Given the description of an element on the screen output the (x, y) to click on. 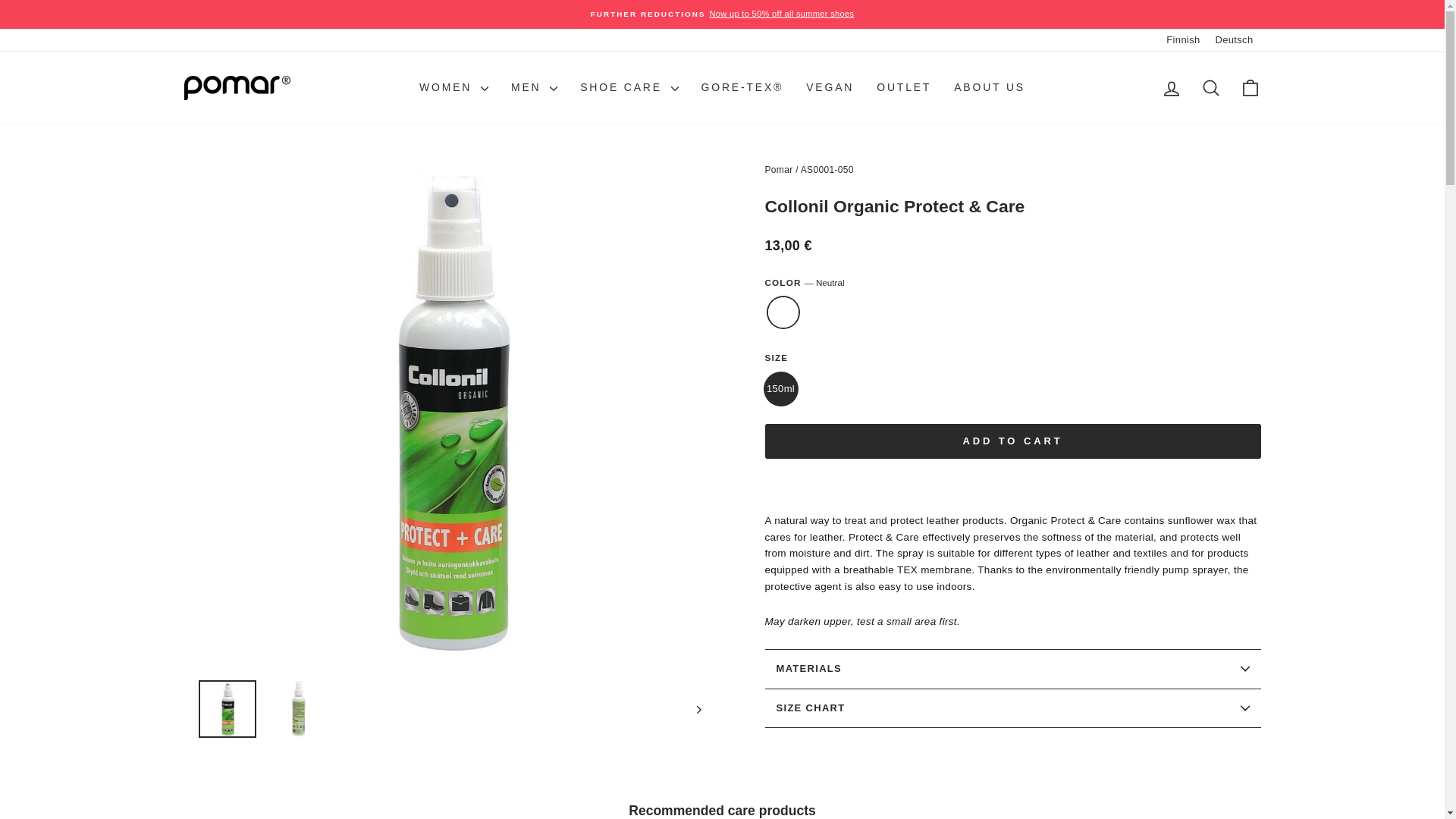
ICON-BAG-MINIMAL (1249, 87)
ACCOUNT (1170, 87)
ICON-SEARCH (1210, 87)
